Given the description of an element on the screen output the (x, y) to click on. 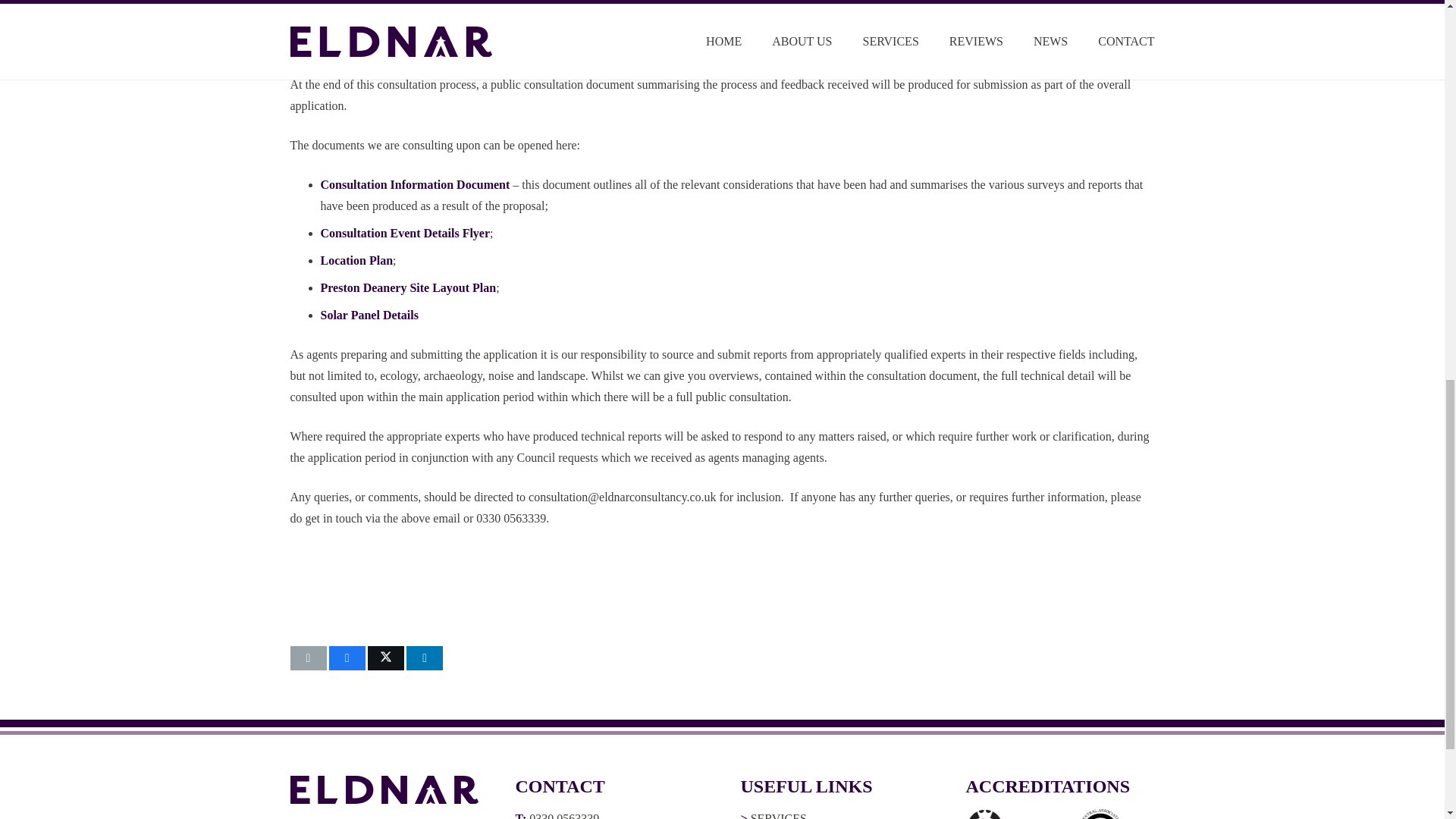
Share this (424, 658)
0330 0563339 (563, 815)
Consultation Event Details Flyer (404, 232)
Location Plan (356, 259)
Back to top (1413, 26)
Preston Deanery Site Layout Plan (408, 287)
Share this (347, 658)
Consultation Information Document (414, 184)
Tweet this (386, 658)
Solar Panel Details (368, 314)
Email this (307, 658)
SERVICES (778, 815)
